Given the description of an element on the screen output the (x, y) to click on. 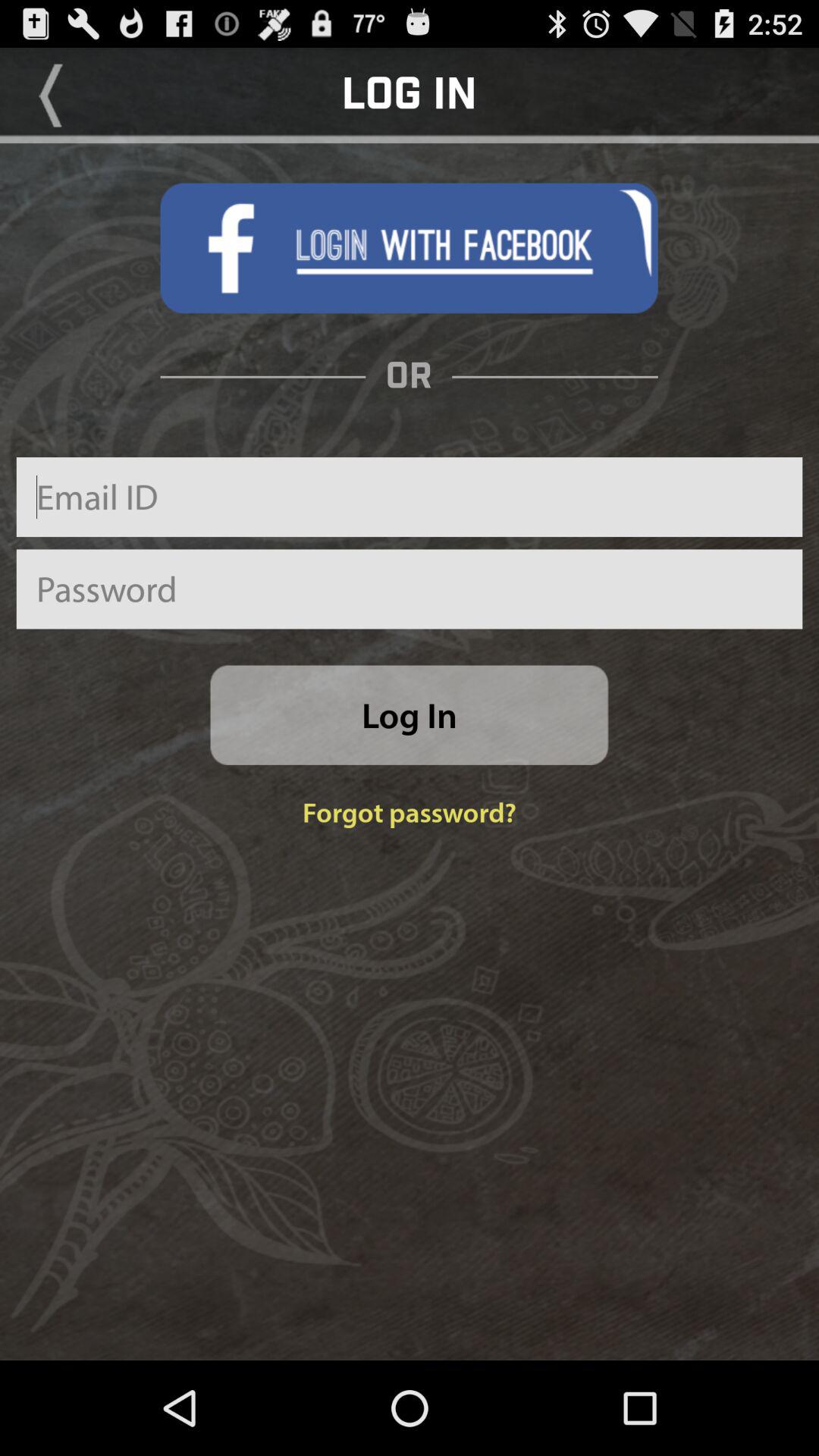
enter email adderss (409, 496)
